Given the description of an element on the screen output the (x, y) to click on. 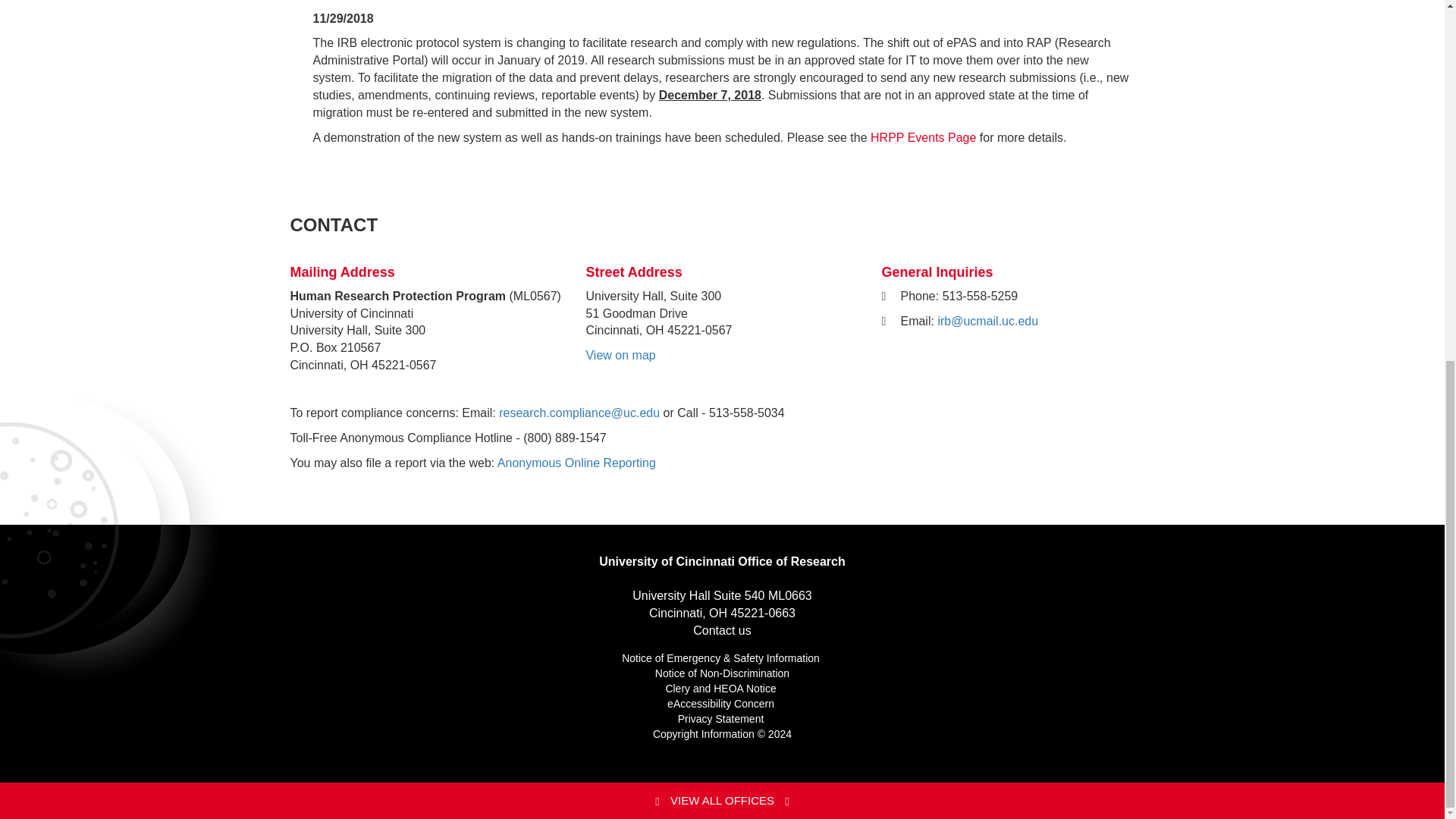
HRPP Events Page (922, 137)
View on map (620, 354)
Anonymous Online Reporting (576, 462)
